Given the description of an element on the screen output the (x, y) to click on. 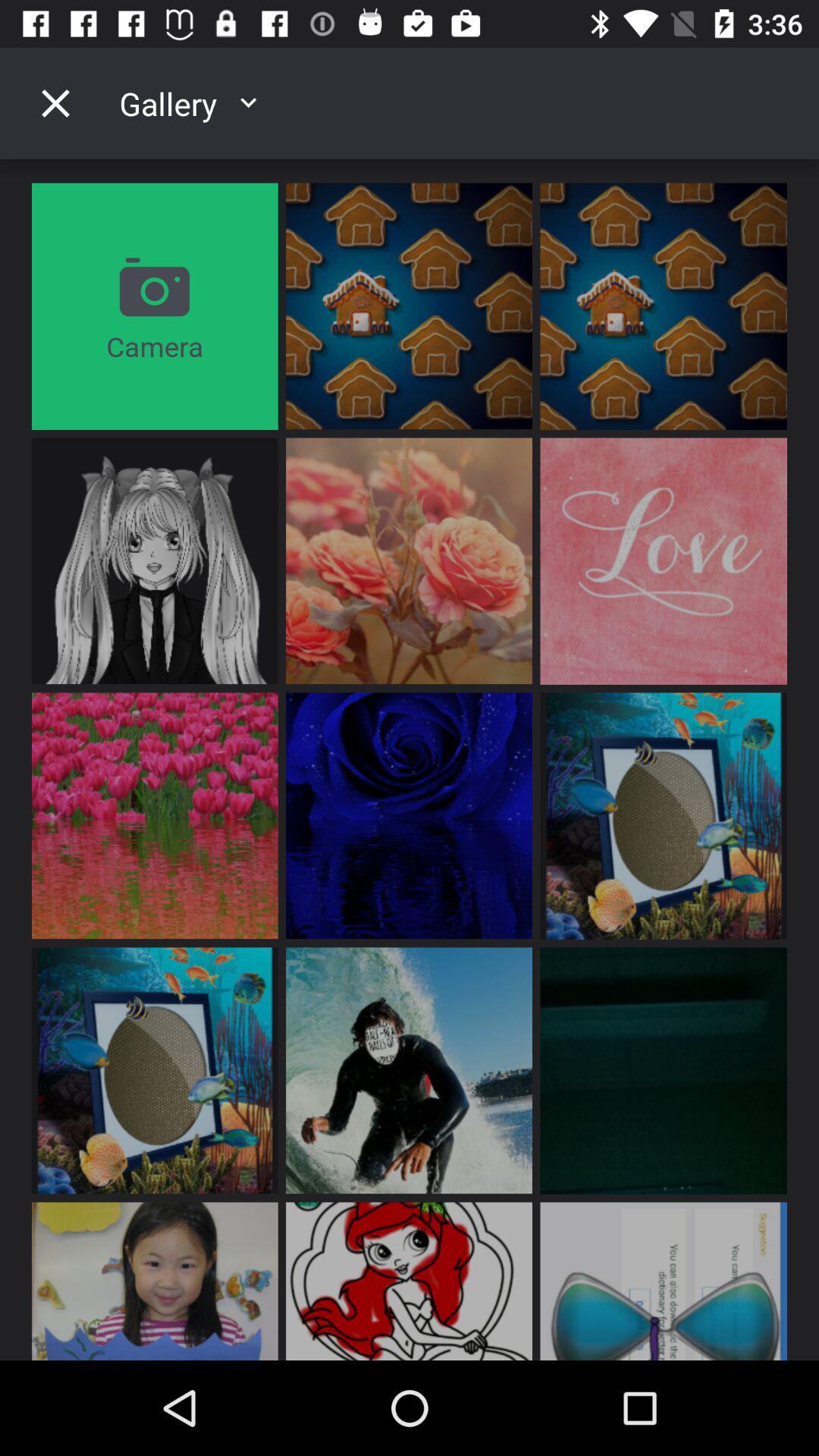
turn on the icon above camera (55, 103)
